Given the description of an element on the screen output the (x, y) to click on. 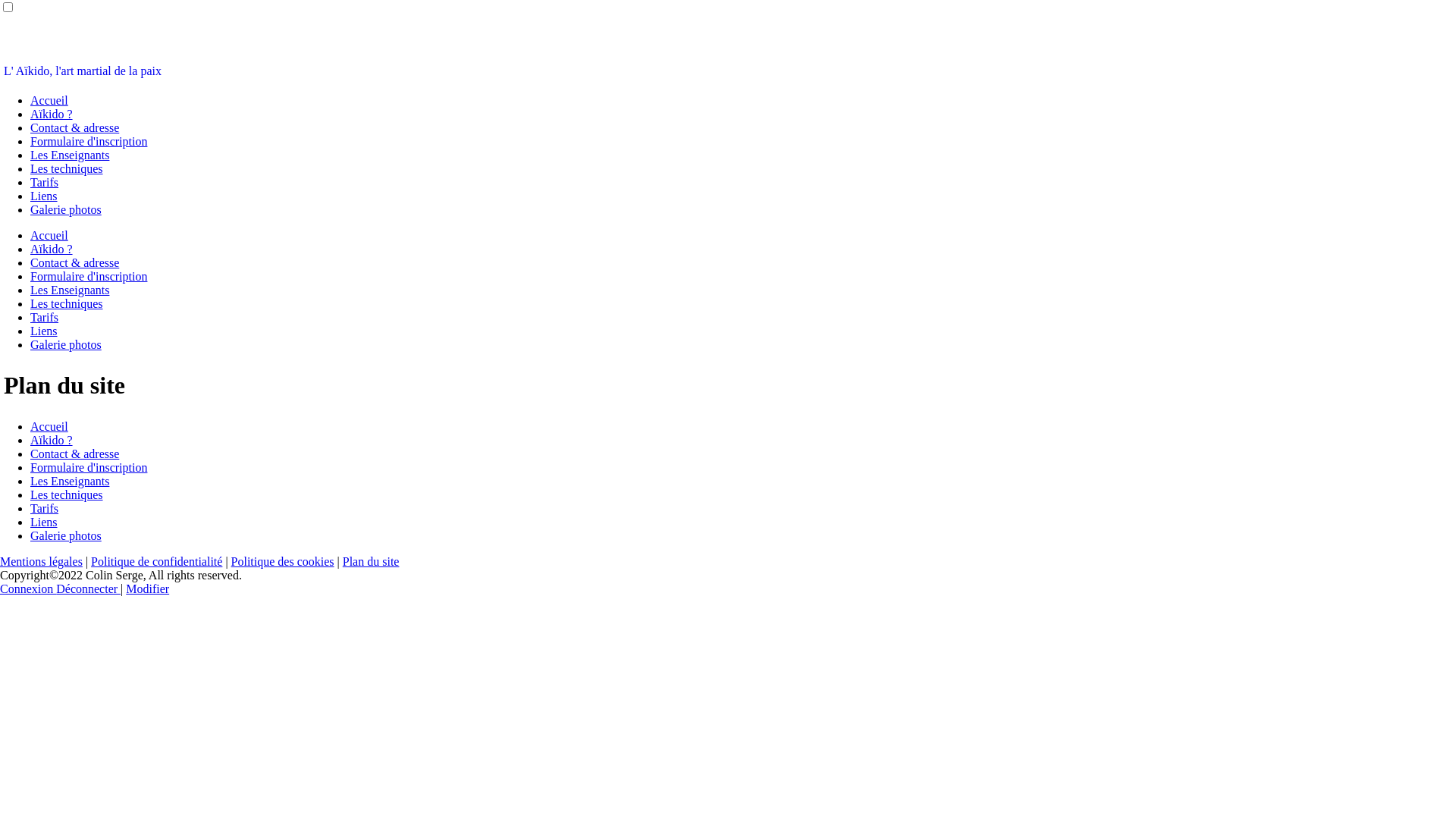
Plan du site Element type: text (370, 561)
Les Enseignants Element type: text (69, 289)
Les techniques Element type: text (66, 303)
Liens Element type: text (43, 330)
Accueil Element type: text (49, 426)
Contact & adresse Element type: text (74, 453)
Formulaire d'inscription Element type: text (88, 467)
Galerie photos Element type: text (65, 344)
Les Enseignants Element type: text (69, 154)
Tarifs Element type: text (44, 508)
Formulaire d'inscription Element type: text (88, 275)
Les Enseignants Element type: text (69, 480)
Politique des cookies Element type: text (282, 561)
Connexion Element type: text (28, 588)
Contact & adresse Element type: text (74, 127)
Accueil Element type: text (49, 100)
Liens Element type: text (43, 521)
Formulaire d'inscription Element type: text (88, 140)
Modifier Element type: text (147, 588)
Galerie photos Element type: text (65, 209)
Tarifs Element type: text (44, 181)
Liens Element type: text (43, 195)
Contact & adresse Element type: text (74, 262)
Accueil Element type: text (49, 235)
Les techniques Element type: text (66, 494)
Les techniques Element type: text (66, 168)
Galerie photos Element type: text (65, 535)
Tarifs Element type: text (44, 316)
